Given the description of an element on the screen output the (x, y) to click on. 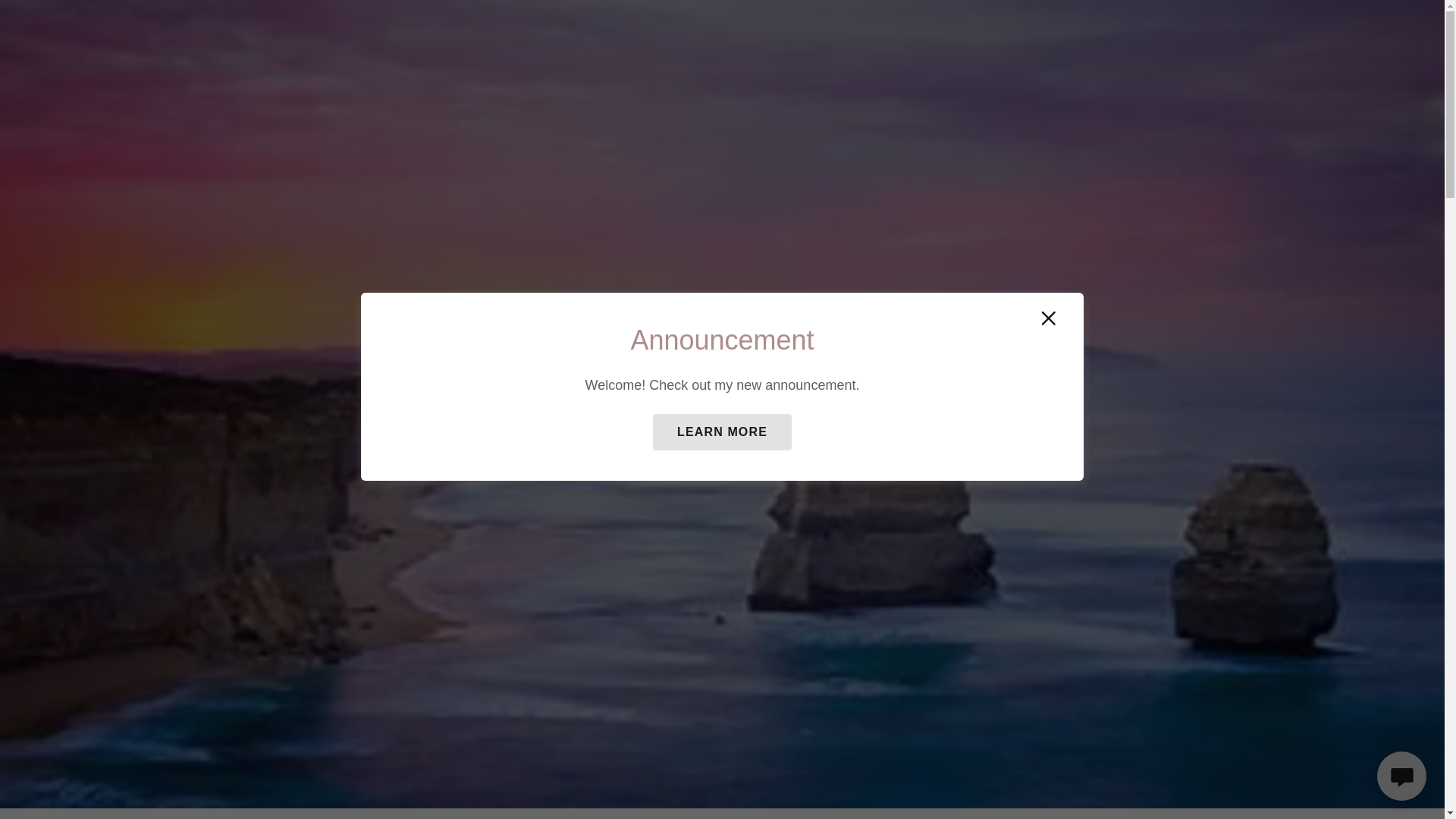
LEARN MORE Element type: text (721, 432)
